Given the description of an element on the screen output the (x, y) to click on. 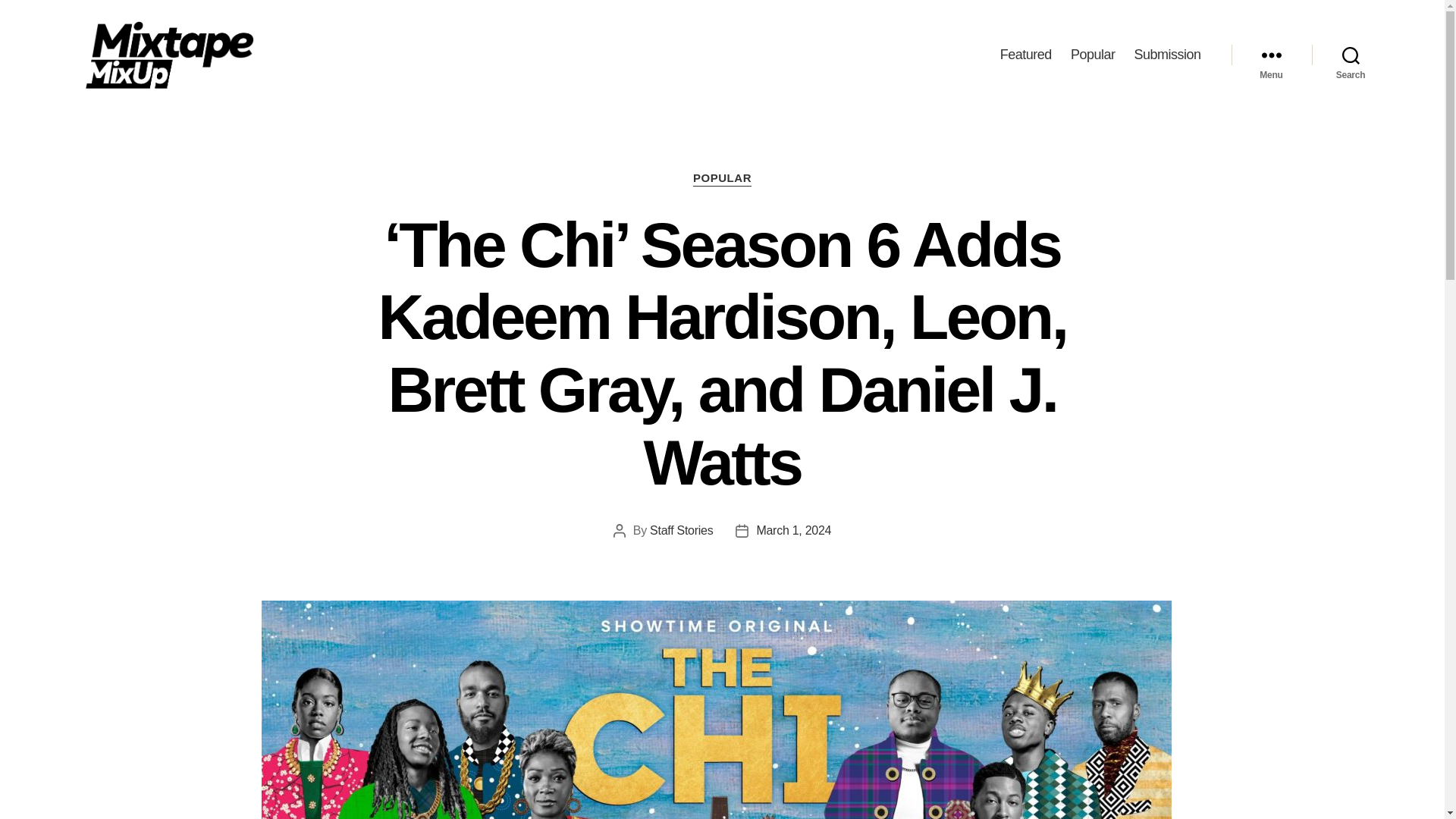
March 1, 2024 (793, 530)
Submission (1166, 54)
Popular (1092, 54)
Search (1350, 55)
Menu (1271, 55)
POPULAR (722, 178)
Featured (1025, 54)
Staff Stories (681, 530)
